Given the description of an element on the screen output the (x, y) to click on. 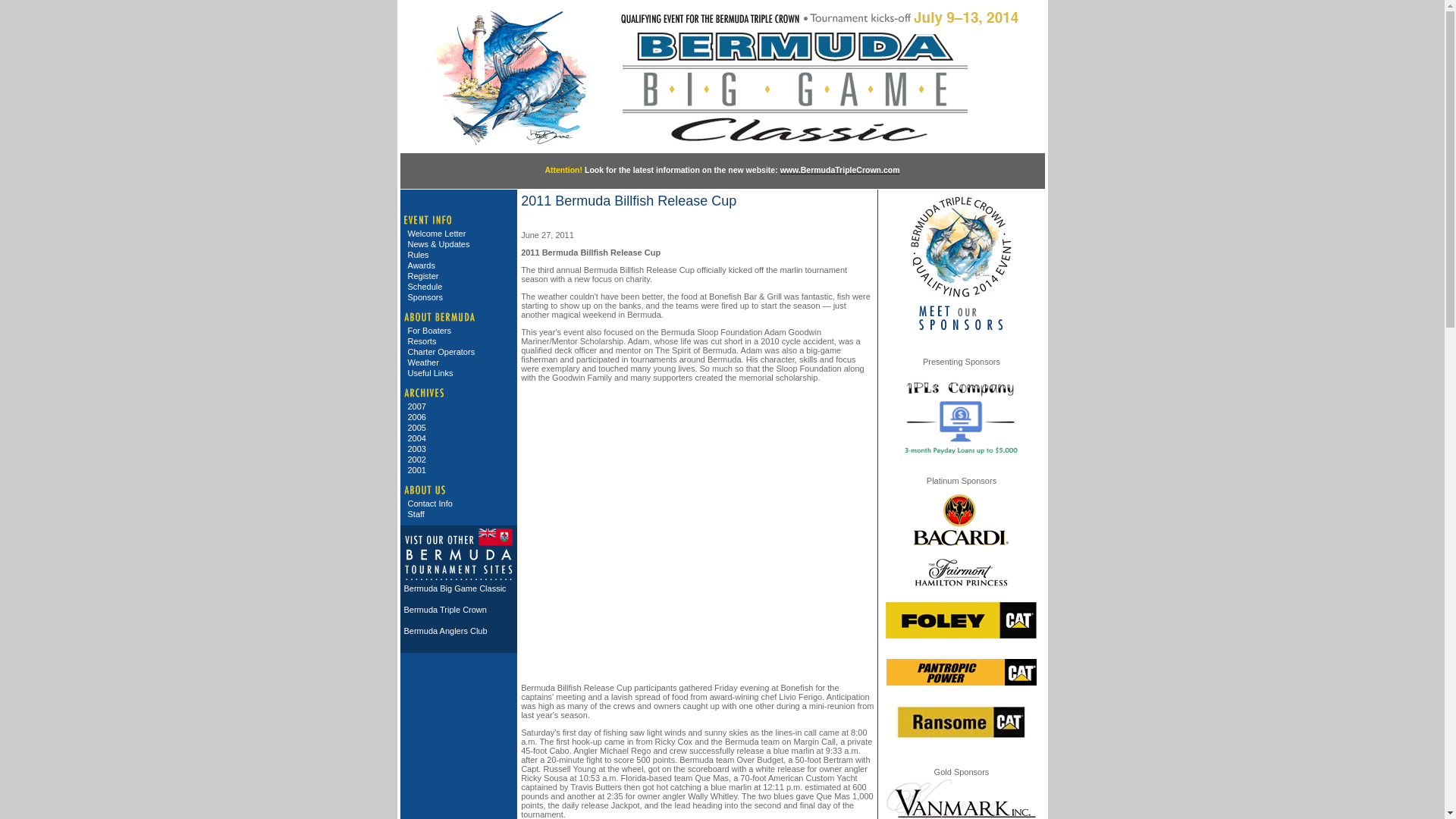
Weather (459, 362)
2002 (459, 459)
2005 (459, 427)
Contact Info (459, 502)
2006 (459, 416)
Staff (459, 513)
Rules (459, 254)
Bermuda Anglers Club (459, 630)
Schedule (459, 286)
Useful Links (459, 372)
For Boaters (459, 330)
2001 (459, 470)
Bermuda Triple Crown (459, 609)
2004 (459, 438)
Awards (459, 265)
